Given the description of an element on the screen output the (x, y) to click on. 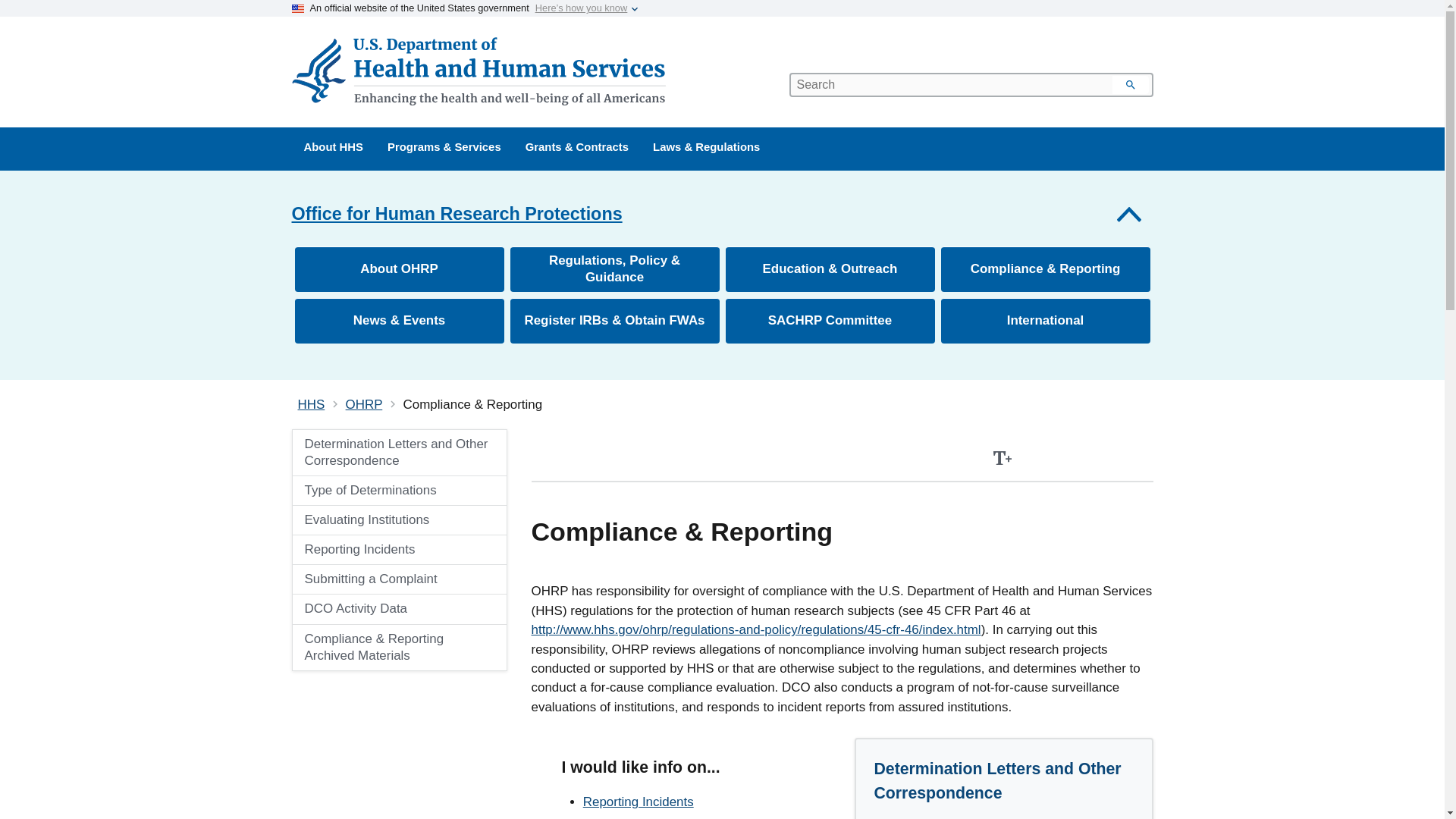
X (1104, 458)
International (1045, 320)
Type of Determinations (399, 490)
HHS (310, 404)
Home (480, 71)
About HHS (333, 148)
Reporting Incidents (399, 549)
Office for Human Research Protections (722, 213)
Email (1137, 458)
Print (1035, 458)
